Given the description of an element on the screen output the (x, y) to click on. 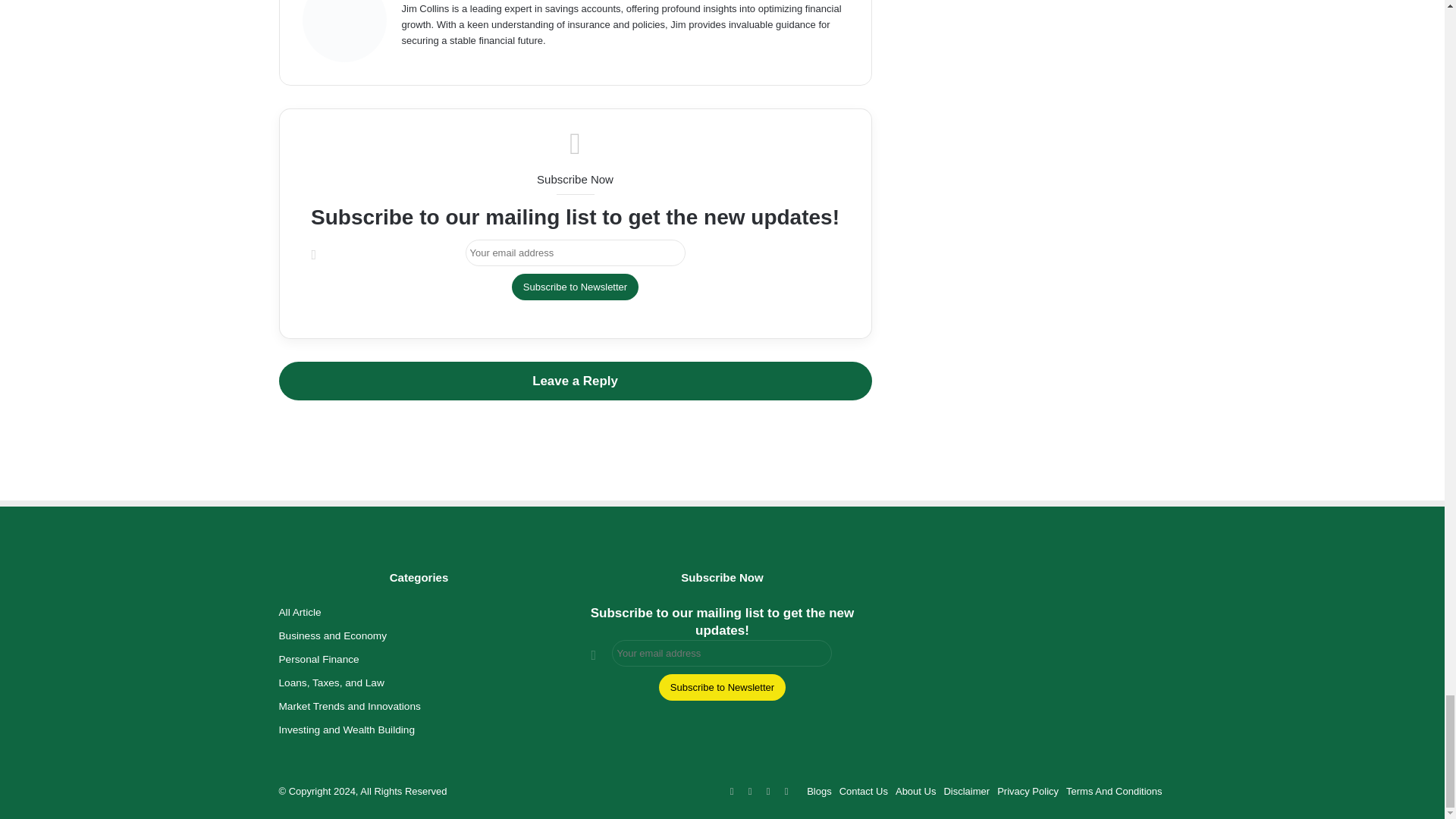
Subscribe to Newsletter (722, 687)
Subscribe to Newsletter (575, 286)
